Given the description of an element on the screen output the (x, y) to click on. 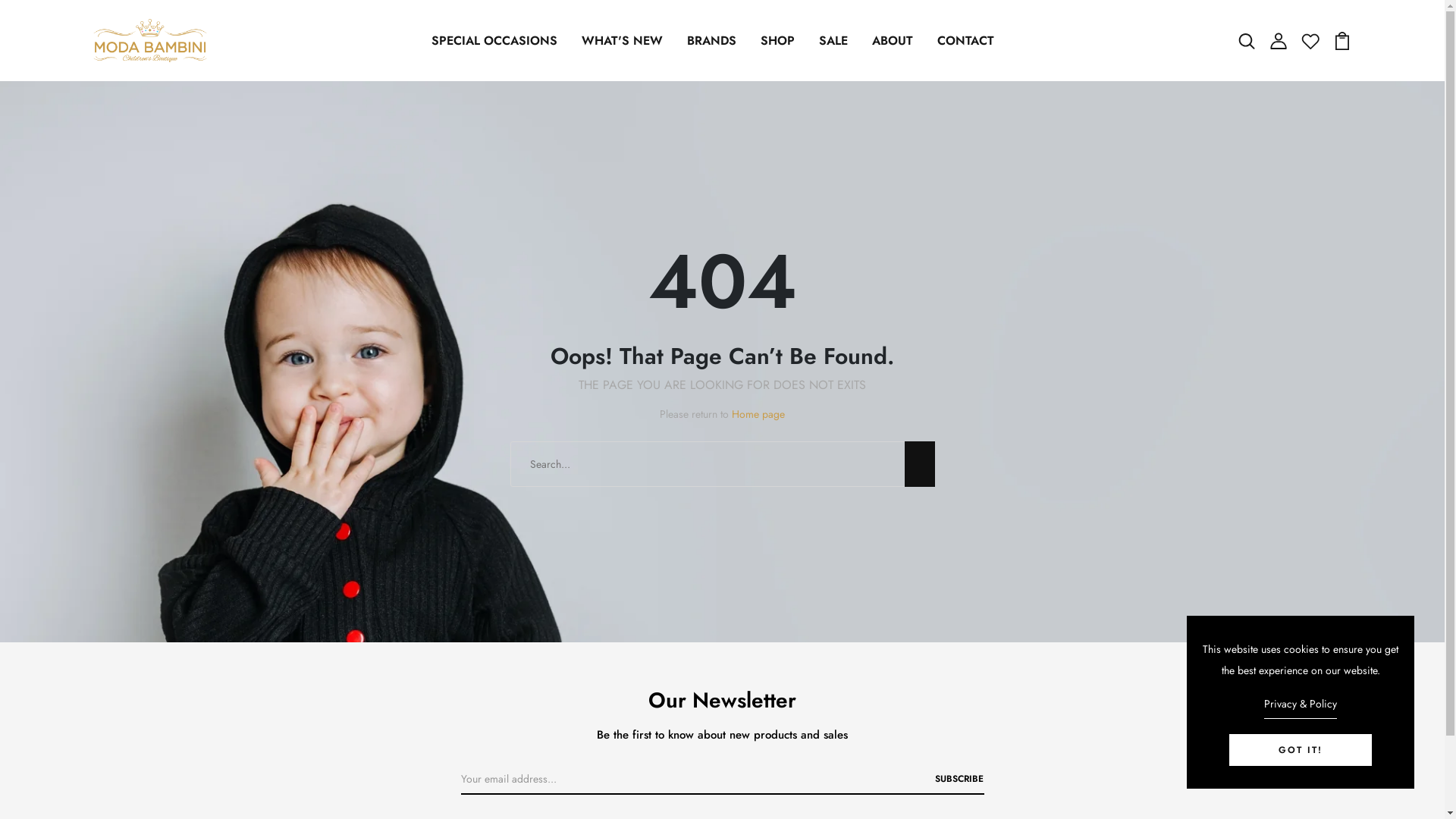
image/svg+xml Element type: text (1342, 39)
GOT IT! Element type: text (1300, 749)
BRANDS Element type: text (711, 40)
image/svg+xml Element type: text (1310, 39)
register Element type: text (722, 746)
ABOUT Element type: text (892, 40)
image/svg+xml Element type: text (1278, 39)
WHAT'S NEW Element type: text (621, 40)
SUBSCRIBE Element type: text (959, 778)
Log In Element type: text (722, 484)
Home page Element type: text (757, 413)
Privacy & Policy Element type: text (1300, 705)
SALE Element type: text (832, 40)
SHOP Element type: text (777, 40)
image/svg+xml Element type: text (1246, 39)
CONTACT Element type: text (965, 40)
SPECIAL OCCASIONS Element type: text (494, 40)
